Given the description of an element on the screen output the (x, y) to click on. 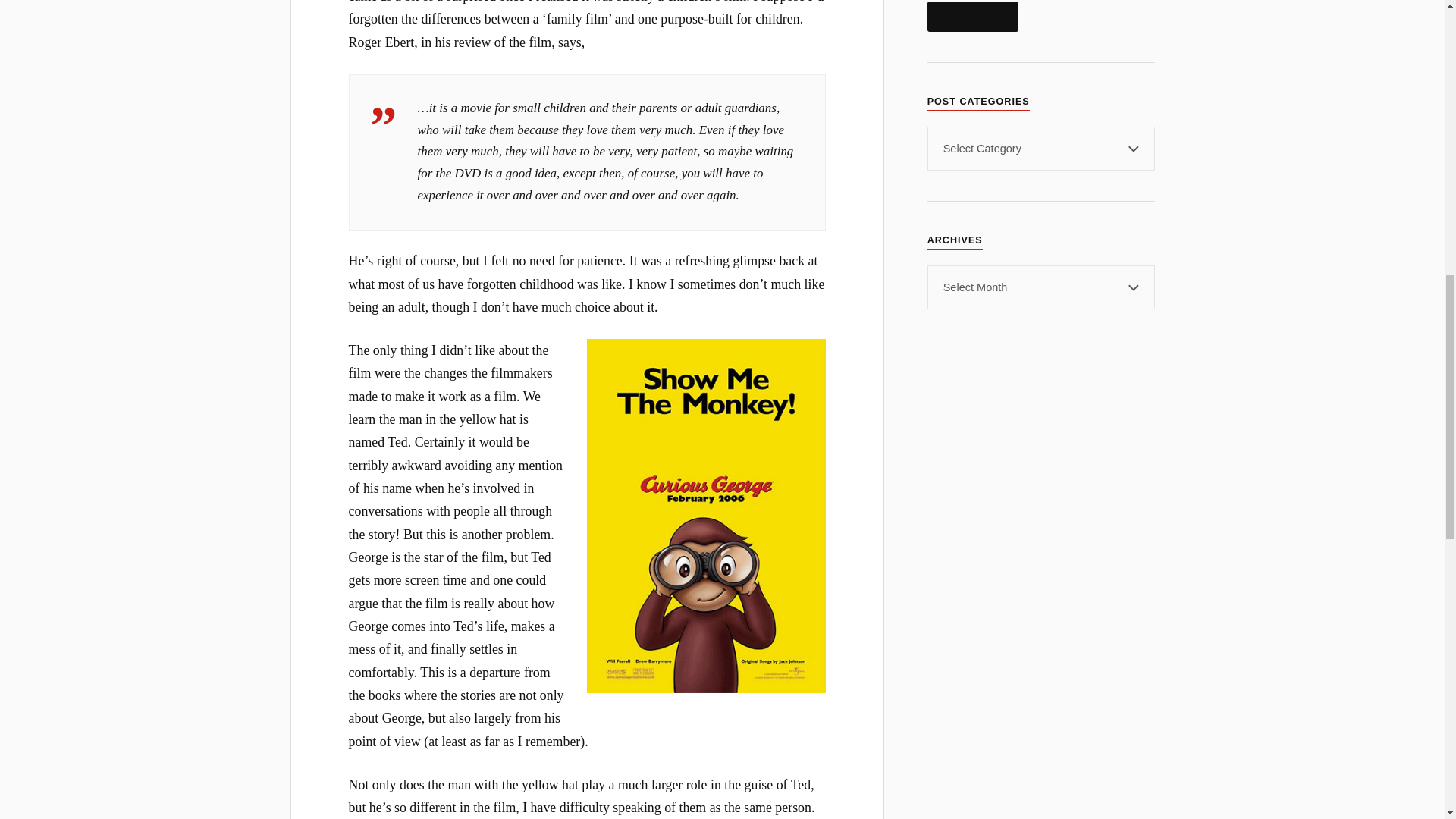
SUBSCRIBE (972, 16)
